Given the description of an element on the screen output the (x, y) to click on. 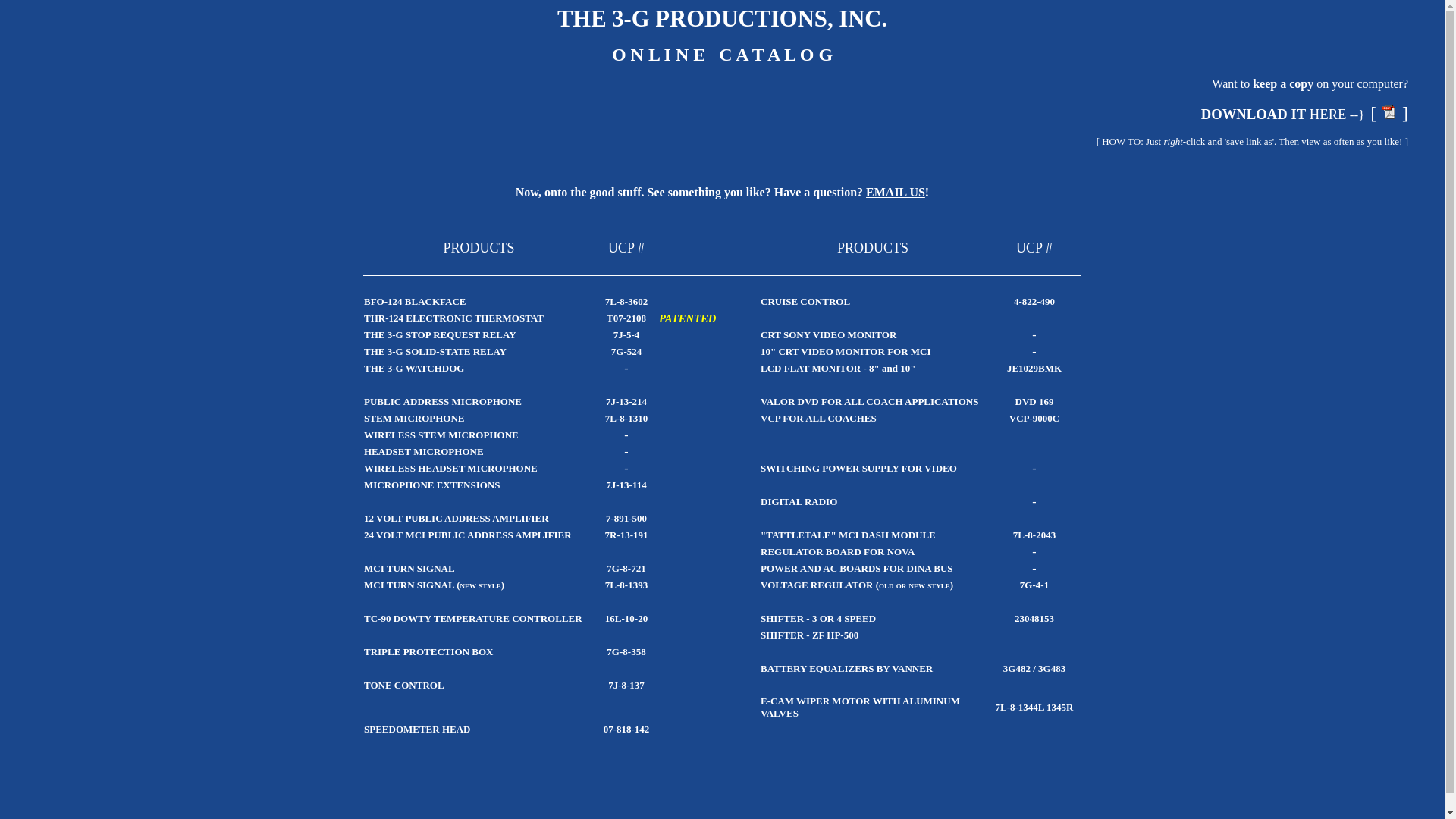
THR-124 ELECTRONIC THERMOSTAT Element type: text (453, 317)
3-G SOLID-STATE RELAY Element type: text (446, 351)
WIRELESS STEM MICROPHONE Element type: text (441, 434)
E-CAM WIPER MOTOR WITH ALUMINUM VALVES Element type: text (860, 706)
SPEEDOMETER HEAD Element type: text (417, 728)
10" CRT VIDEO MONITOR Element type: text (822, 351)
DIGITAL RADIO Element type: text (798, 501)
WIRELESS HEADSET MICROPHONE Element type: text (450, 467)
TONE CONTROL Element type: text (404, 684)
VALOR DVD FOR ALL COACH APPLICATIONS Element type: text (869, 401)
POWER AND AC BOARDS FOR DINA BUS Element type: text (856, 567)
THE 3-G WATCHDOG Element type: text (414, 367)
CRUISE CONTROL Element type: text (805, 301)
LCD FLAT MONITOR - 8" and 10" Element type: text (837, 367)
"TATTLETALE" MCI DASH MODULE Element type: text (847, 534)
TURN SIGNAL (new style) Element type: text (445, 584)
CRT SONY VIDEO MONITOR Element type: text (828, 333)
VCP FOR ALL COACHES Element type: text (818, 417)
MICROPHONE EXTENSIONS Element type: text (432, 484)
SWITCHING POWER SUPPLY FOR VIDEO Element type: text (858, 467)
MCI TURN SIGNAL Element type: text (409, 568)
HEADSET MICROPHONE Element type: text (423, 451)
(old or new style) Element type: text (914, 583)
STEM MICROPHONE Element type: text (414, 417)
PUBLIC ADDRESS MICROPHONE Element type: text (442, 401)
EMAIL US Element type: text (895, 191)
TRIPLE PROTECTION BOX Element type: text (428, 651)
VOLTAGE REGULATOR Element type: text (817, 584)
BFO-124 BLACKFACE Element type: text (414, 301)
REGULATOR BOARD FOR NOVA Element type: text (837, 551)
TC-90 DOWTY TEMPERATURE CONTROLLER Element type: text (473, 618)
BATTERY EQUALIZERS Element type: text (816, 668)
12 VOLT PUBLIC ADDRESS AMPLIFIER Element type: text (456, 518)
SHIFTER - ZF HP-500 Element type: text (809, 634)
THE 3-G STOP REQUEST RELAY Element type: text (440, 334)
SHIFTER - 3 OR 4 SPEED Element type: text (817, 618)
24 VOLT MCI PUBLIC ADDRESS Element type: text (438, 534)
PATENTED Element type: text (686, 316)
